Given the description of an element on the screen output the (x, y) to click on. 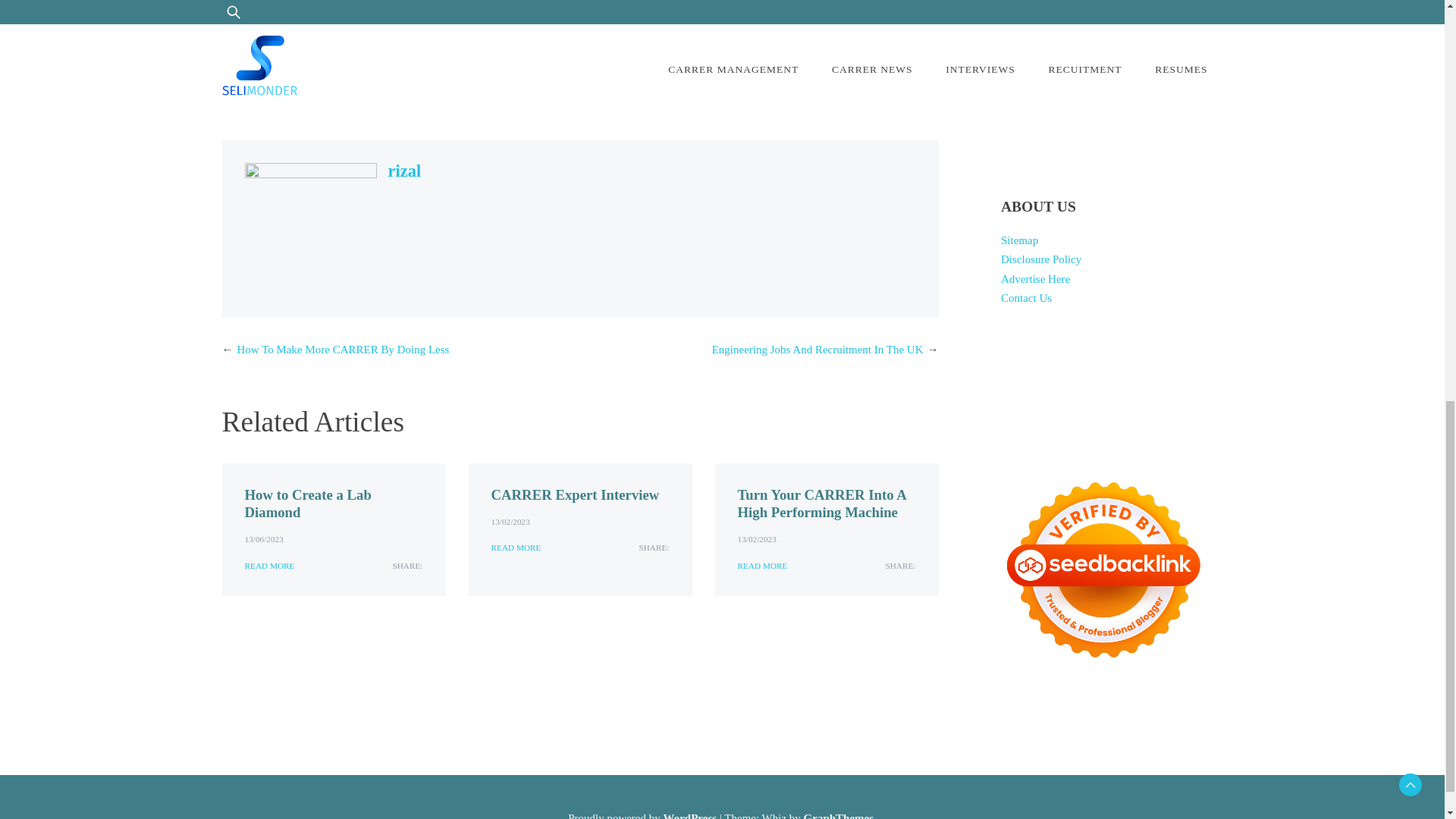
CARRER Expert Interview (575, 494)
How To Make More CARRER By Doing Less (341, 349)
Engineering Jobs And Recruitment In The UK (817, 349)
Turn Your CARRER Into A High Performing Machine (820, 503)
READ MORE (516, 547)
How to Create a Lab Diamond (307, 503)
rizal (405, 170)
Seedbacklink (1103, 569)
READ MORE (269, 565)
READ MORE (761, 565)
